Given the description of an element on the screen output the (x, y) to click on. 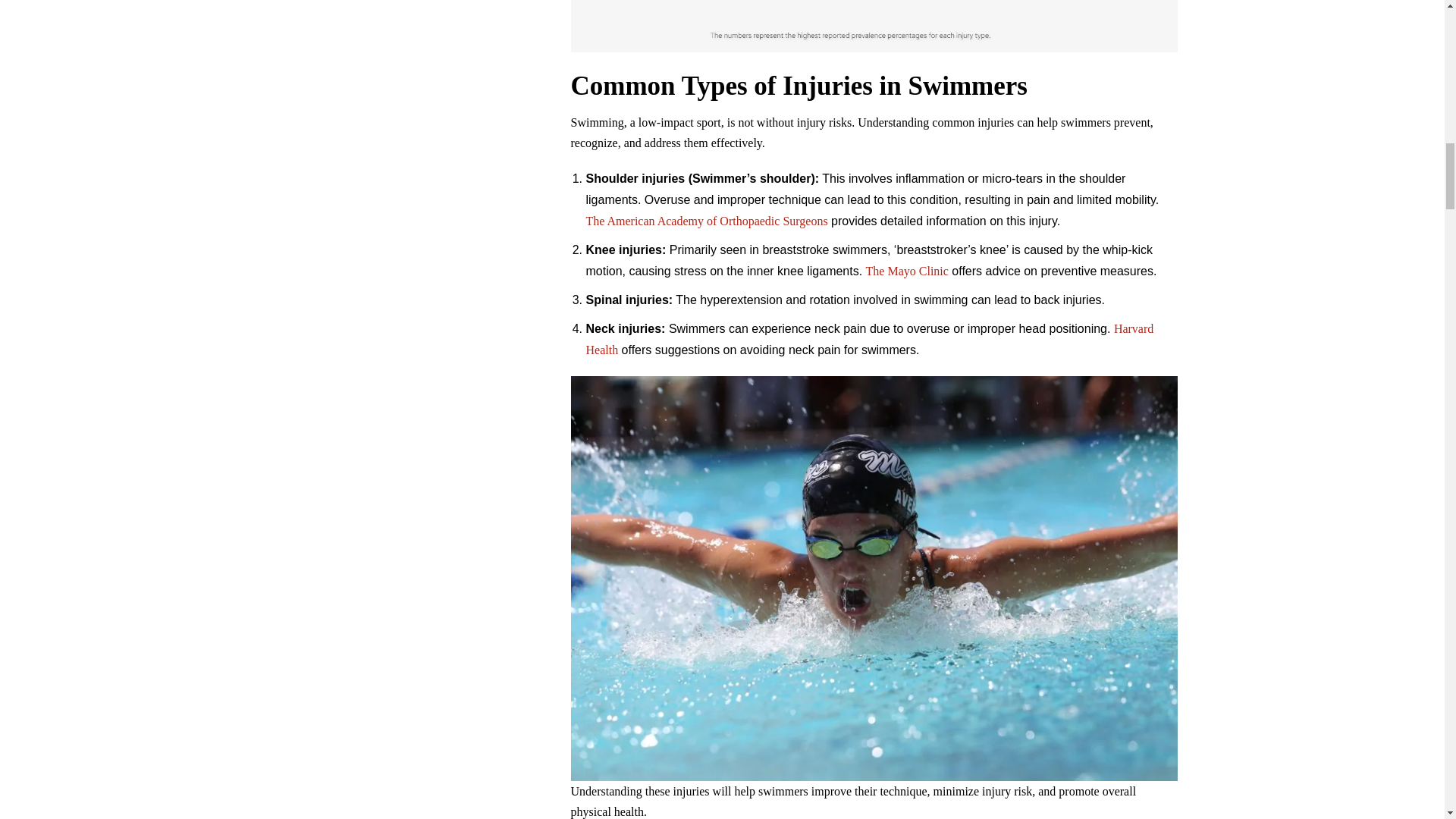
Swimming injuries 2 (873, 26)
Harvard Health (869, 339)
The Mayo Clinic (907, 270)
The American Academy of Orthopaedic Surgeons (706, 220)
